Given the description of an element on the screen output the (x, y) to click on. 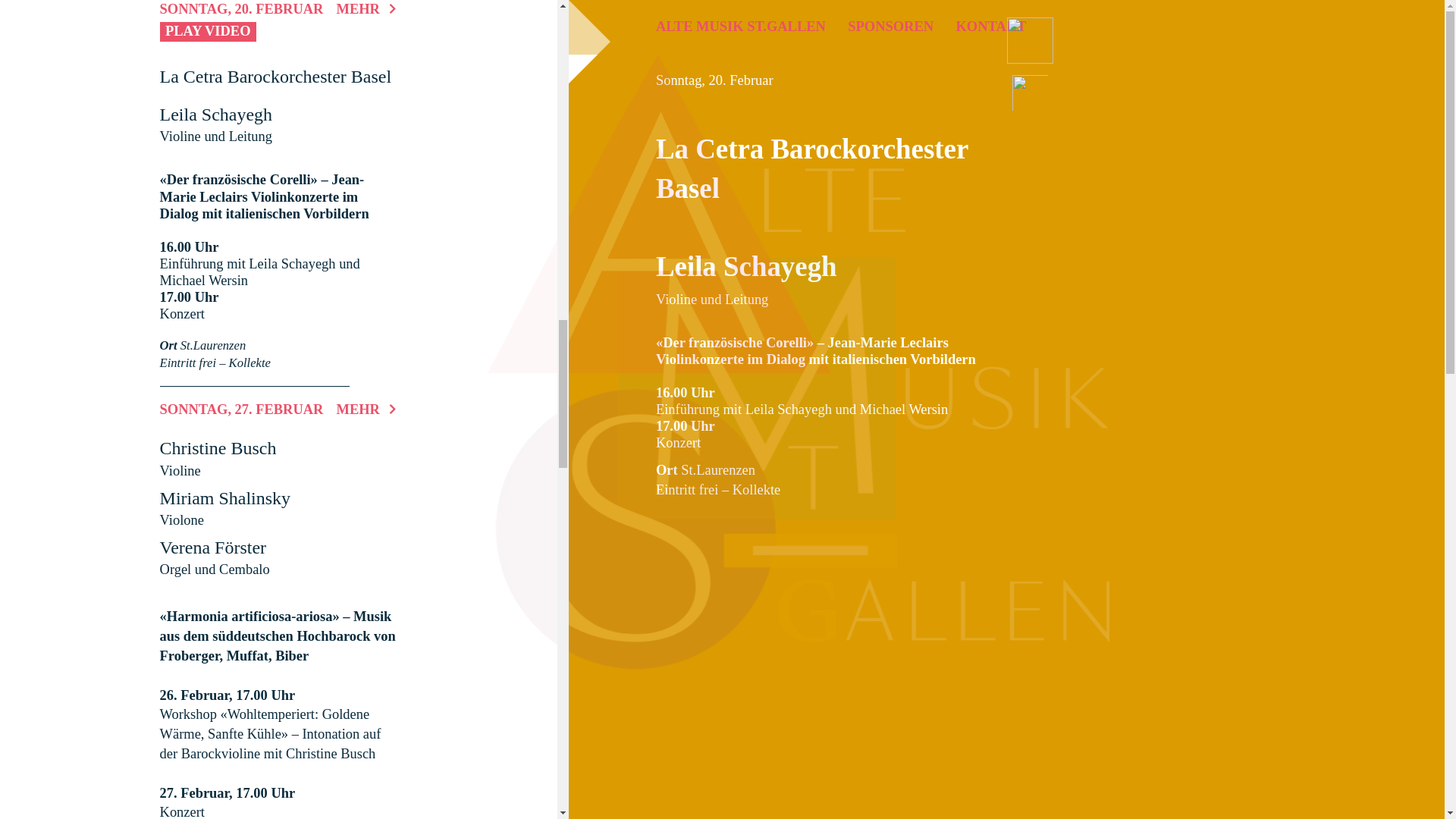
SPONSOREN Element type: text (890, 26)
ALTE MUSIK ST.GALLEN Element type: text (740, 26)
KONTAKT Element type: text (991, 26)
